Given the description of an element on the screen output the (x, y) to click on. 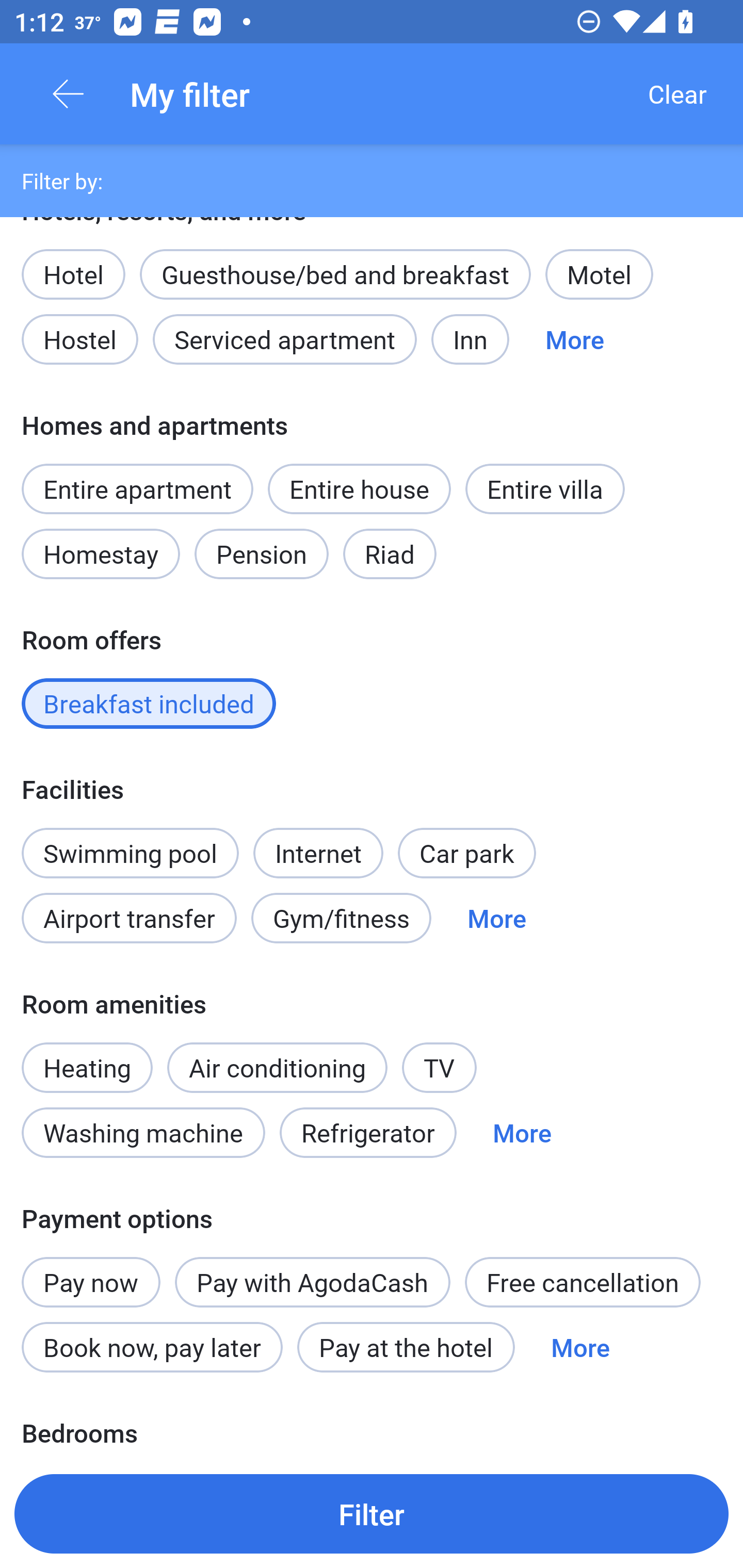
Clear (676, 93)
Hotel (73, 263)
Guesthouse/bed and breakfast (335, 274)
Motel (599, 274)
Hostel (79, 339)
Serviced apartment (284, 339)
Inn (470, 339)
More (574, 339)
Entire apartment (137, 488)
Entire house (359, 488)
Entire villa (544, 488)
Homestay (100, 554)
Pension (261, 554)
Riad (389, 554)
Swimming pool (130, 852)
Internet (318, 841)
Car park (466, 852)
Airport transfer (129, 917)
Gym/fitness (341, 917)
More (496, 917)
Heating (87, 1056)
Air conditioning (277, 1067)
TV (439, 1067)
Washing machine (143, 1132)
Refrigerator (367, 1132)
More (522, 1132)
Pay now (90, 1271)
Pay with AgodaCash (312, 1281)
Free cancellation (582, 1281)
Book now, pay later (152, 1347)
Pay at the hotel (405, 1347)
More (580, 1347)
Filter (371, 1513)
